Given the description of an element on the screen output the (x, y) to click on. 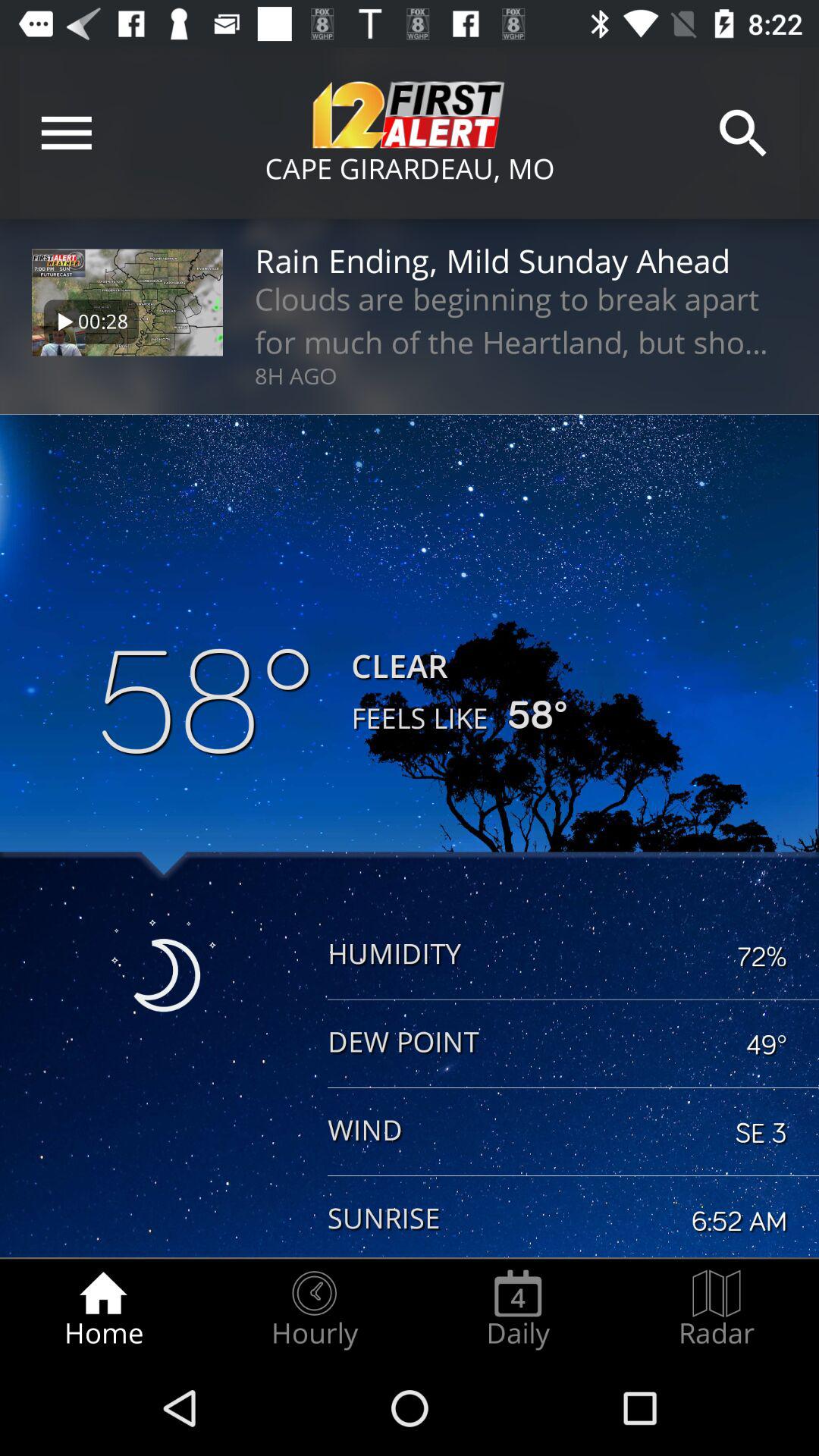
click the radio button to the left of the hourly (103, 1309)
